Given the description of an element on the screen output the (x, y) to click on. 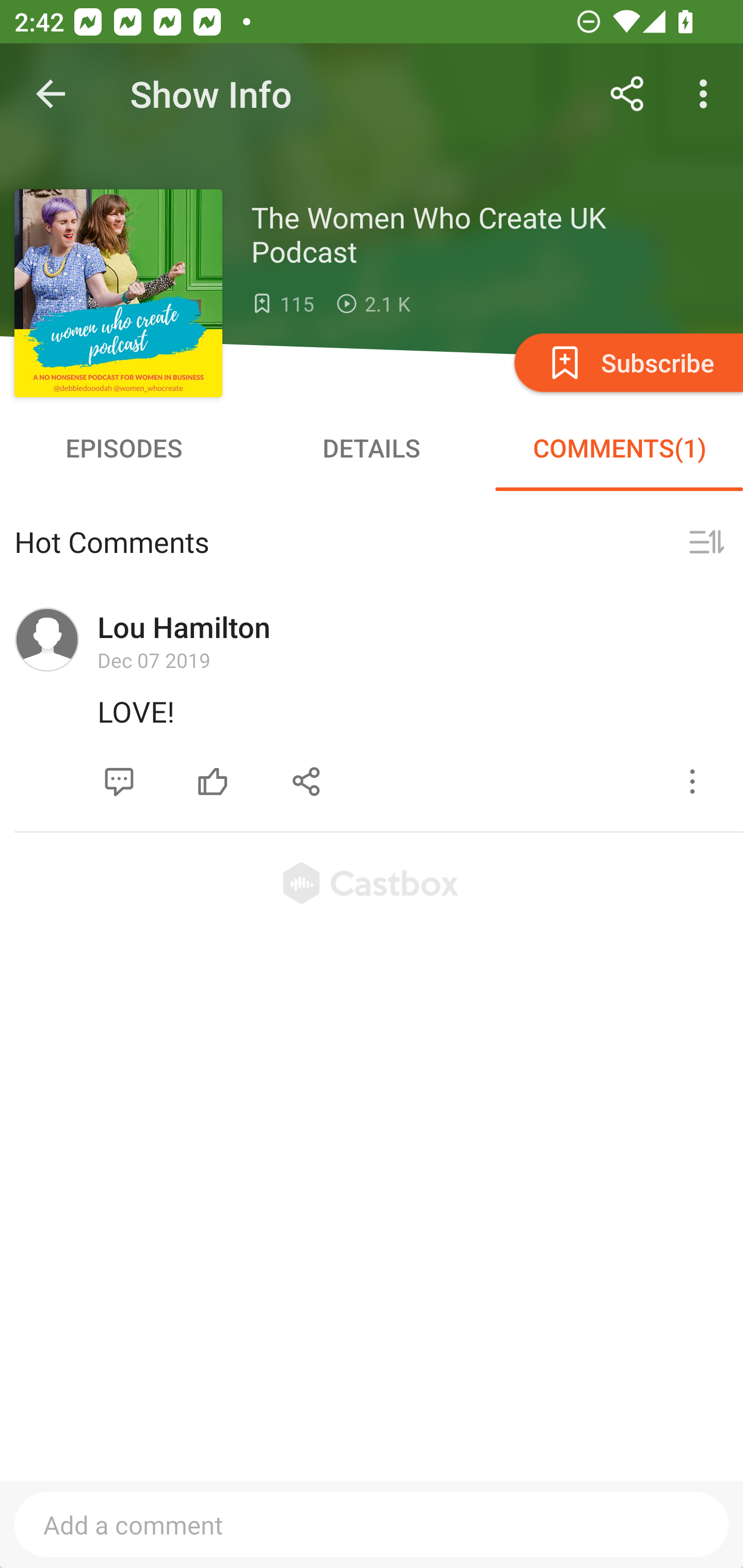
Navigate up (50, 93)
Share (626, 93)
More options (706, 93)
Subscribe (627, 361)
EPISODES (123, 447)
DETAILS (371, 447)
COMMENTS(1) (619, 447)
 (706, 542)
Lou Hamilton Dec 07 2019 LOVE!     (371, 705)
 (119, 781)
 (212, 781)
 (307, 781)
 (692, 781)
Add a comment (371, 1524)
